Given the description of an element on the screen output the (x, y) to click on. 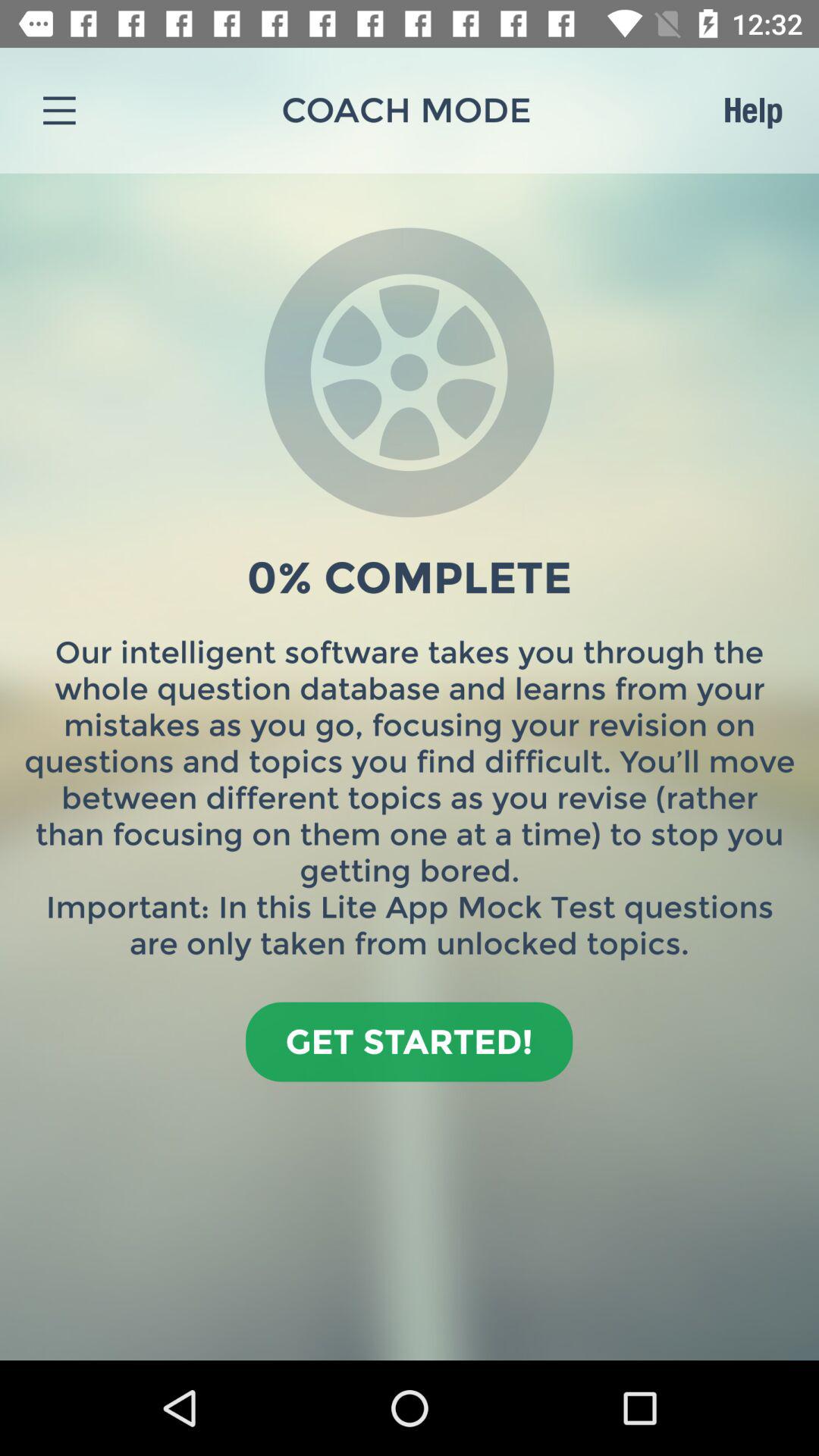
swipe to the help (752, 110)
